Given the description of an element on the screen output the (x, y) to click on. 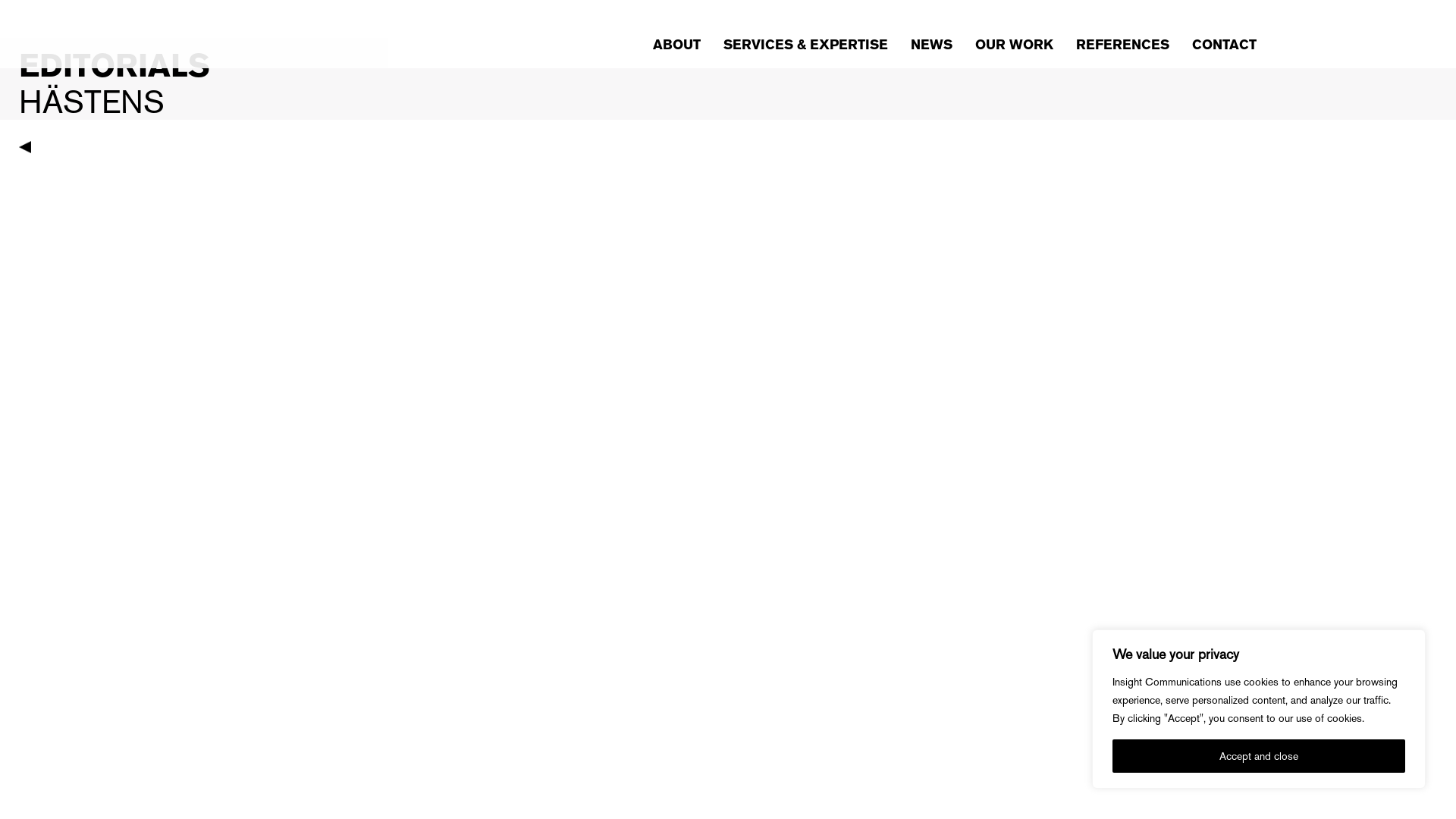
ABOUT Element type: text (676, 47)
OUR WORK Element type: text (1014, 47)
REFERENCES Element type: text (1122, 47)
CONTACT Element type: text (1224, 47)
SERVICES & EXPERTISE Element type: text (805, 47)
NEWS Element type: text (931, 47)
Accept and close Element type: text (1258, 755)
